Given the description of an element on the screen output the (x, y) to click on. 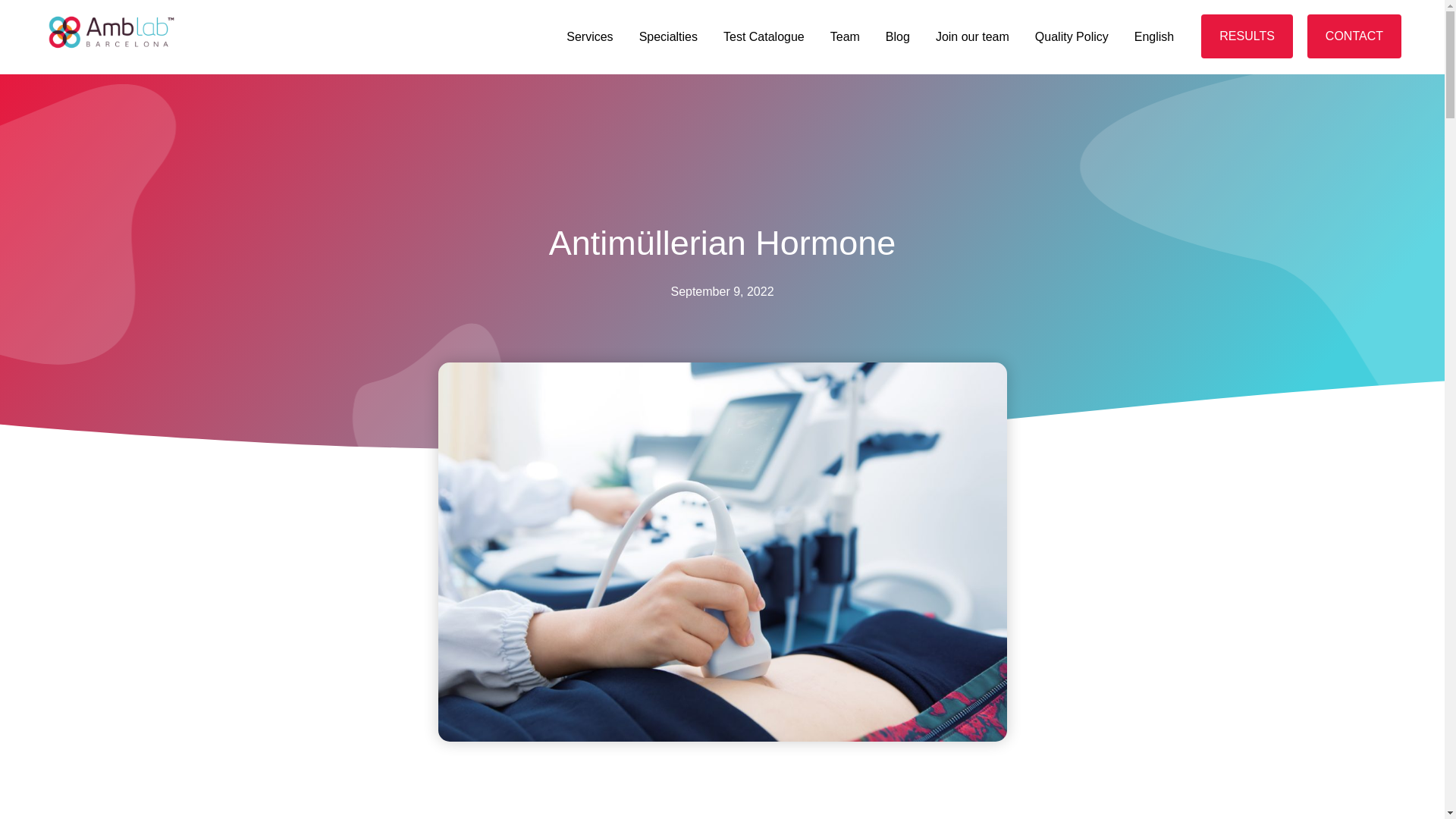
Blog (897, 36)
English (1153, 36)
Test Catalogue (763, 36)
Join our team (972, 36)
Team (844, 36)
Services (589, 36)
Specialties (668, 36)
Quality Policy (1071, 36)
English (1153, 36)
